Given the description of an element on the screen output the (x, y) to click on. 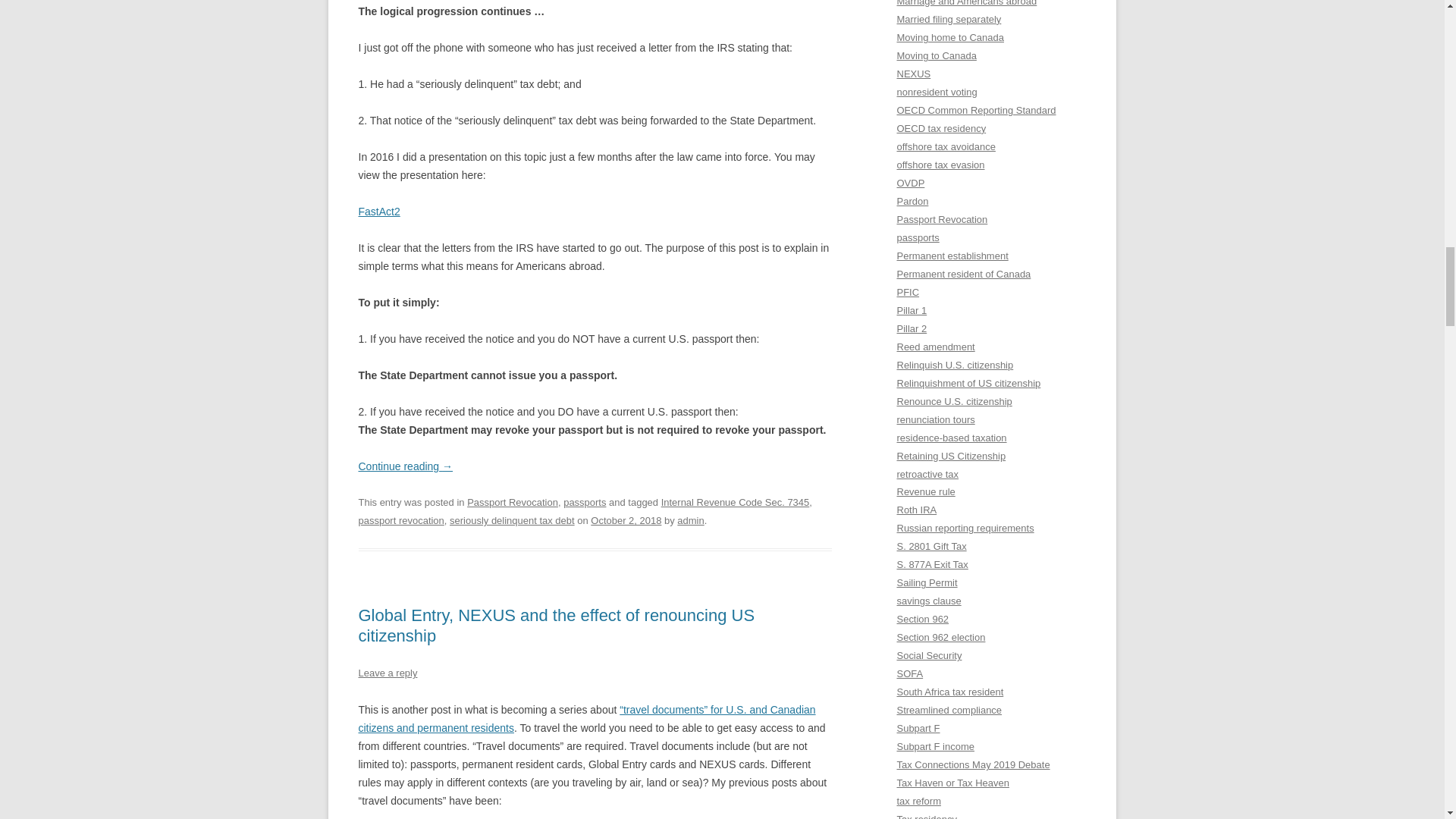
View all posts by admin (690, 520)
6:08 pm (626, 520)
